Given the description of an element on the screen output the (x, y) to click on. 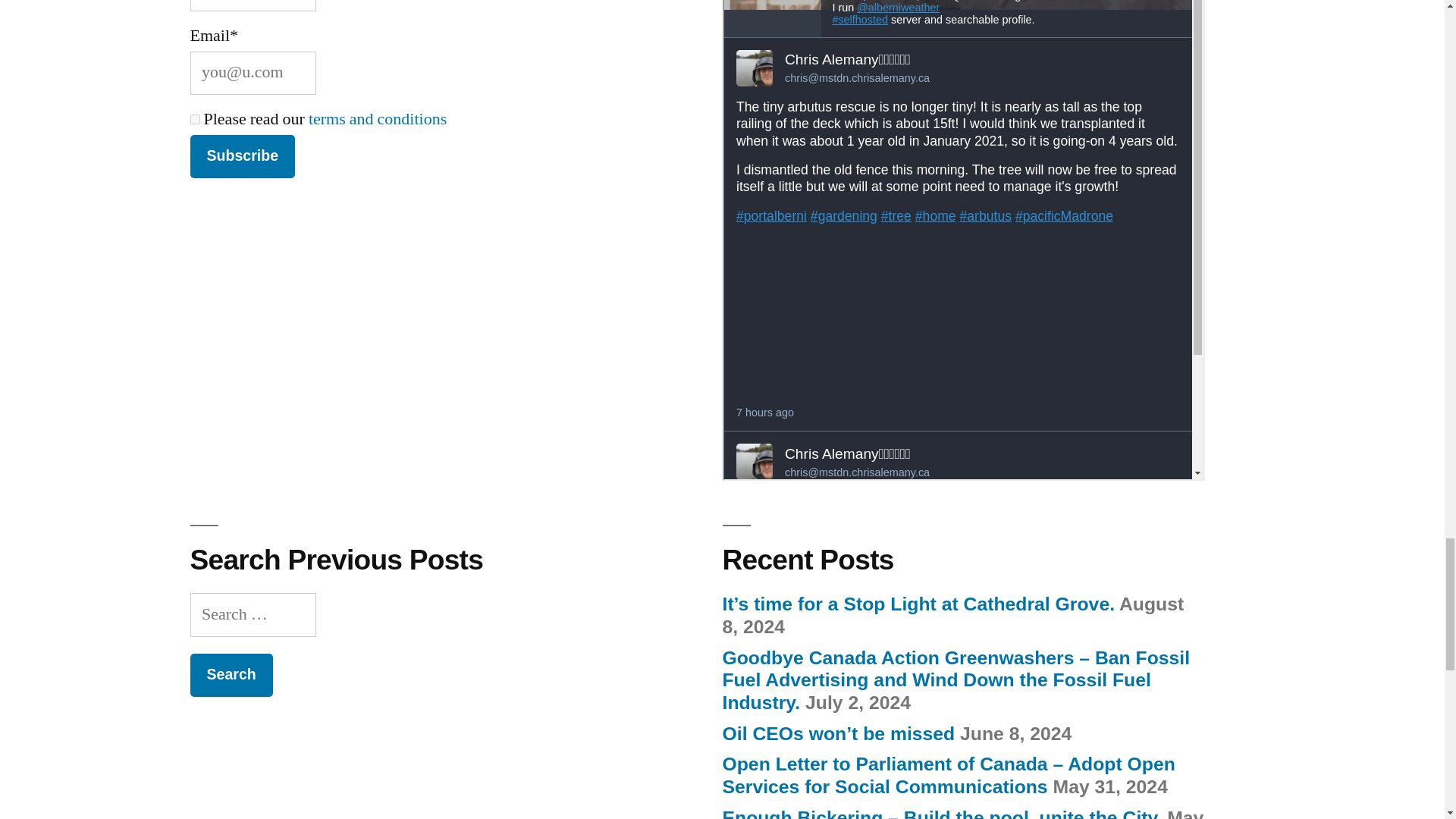
Subscribe (242, 156)
Search (230, 674)
Search (230, 674)
true (194, 119)
